Given the description of an element on the screen output the (x, y) to click on. 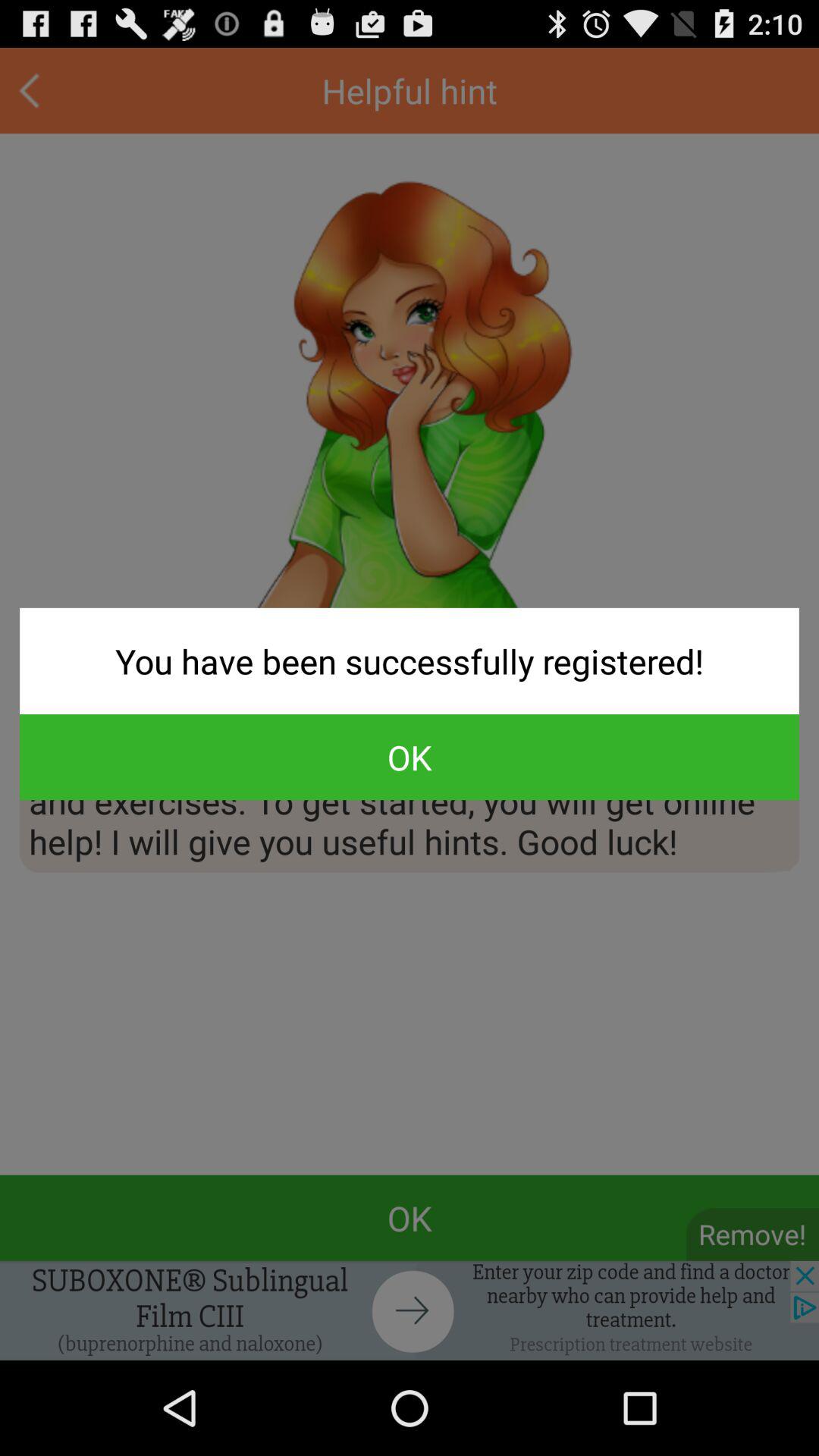
open the item below the you have been item (409, 757)
